Given the description of an element on the screen output the (x, y) to click on. 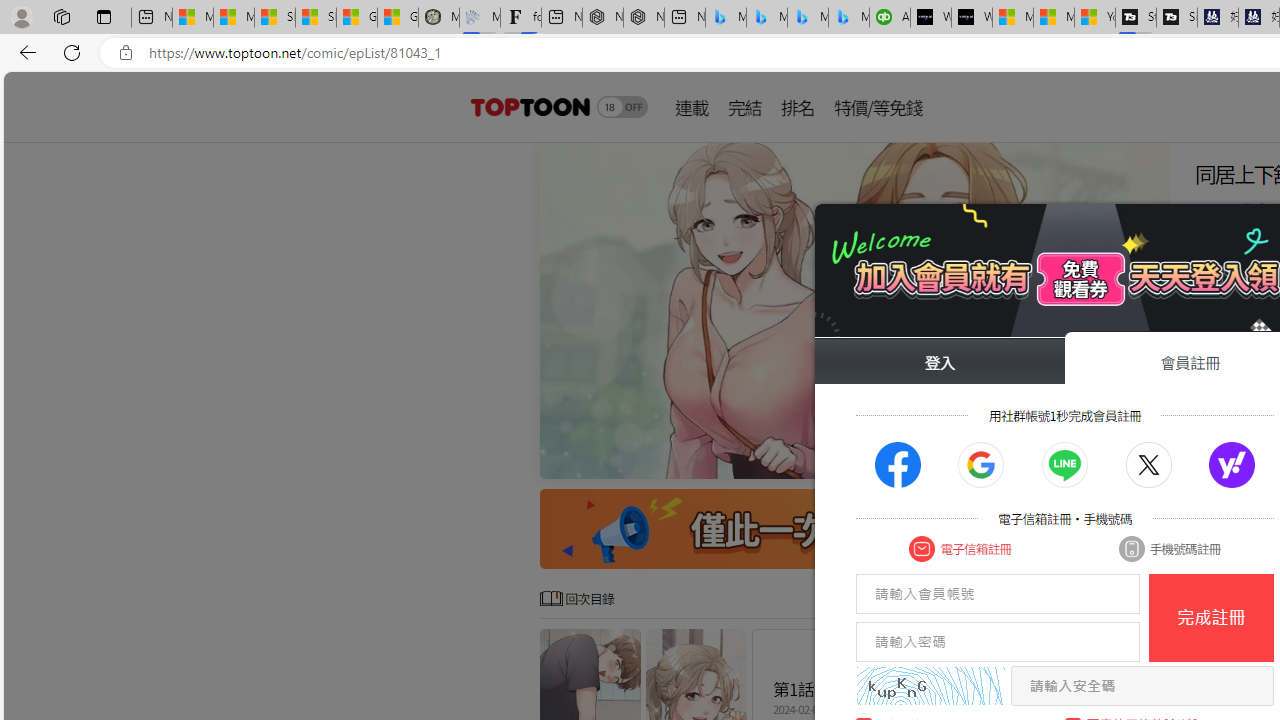
Shanghai, China weather forecast | Microsoft Weather (315, 17)
What's the best AI voice generator? - voice.ai (971, 17)
Microsoft Bing Travel - Shangri-La Hotel Bangkok (849, 17)
Microsoft Start Sports (1012, 17)
Workspaces (61, 16)
Accounting Software for Accountants, CPAs and Bookkeepers (890, 17)
